Given the description of an element on the screen output the (x, y) to click on. 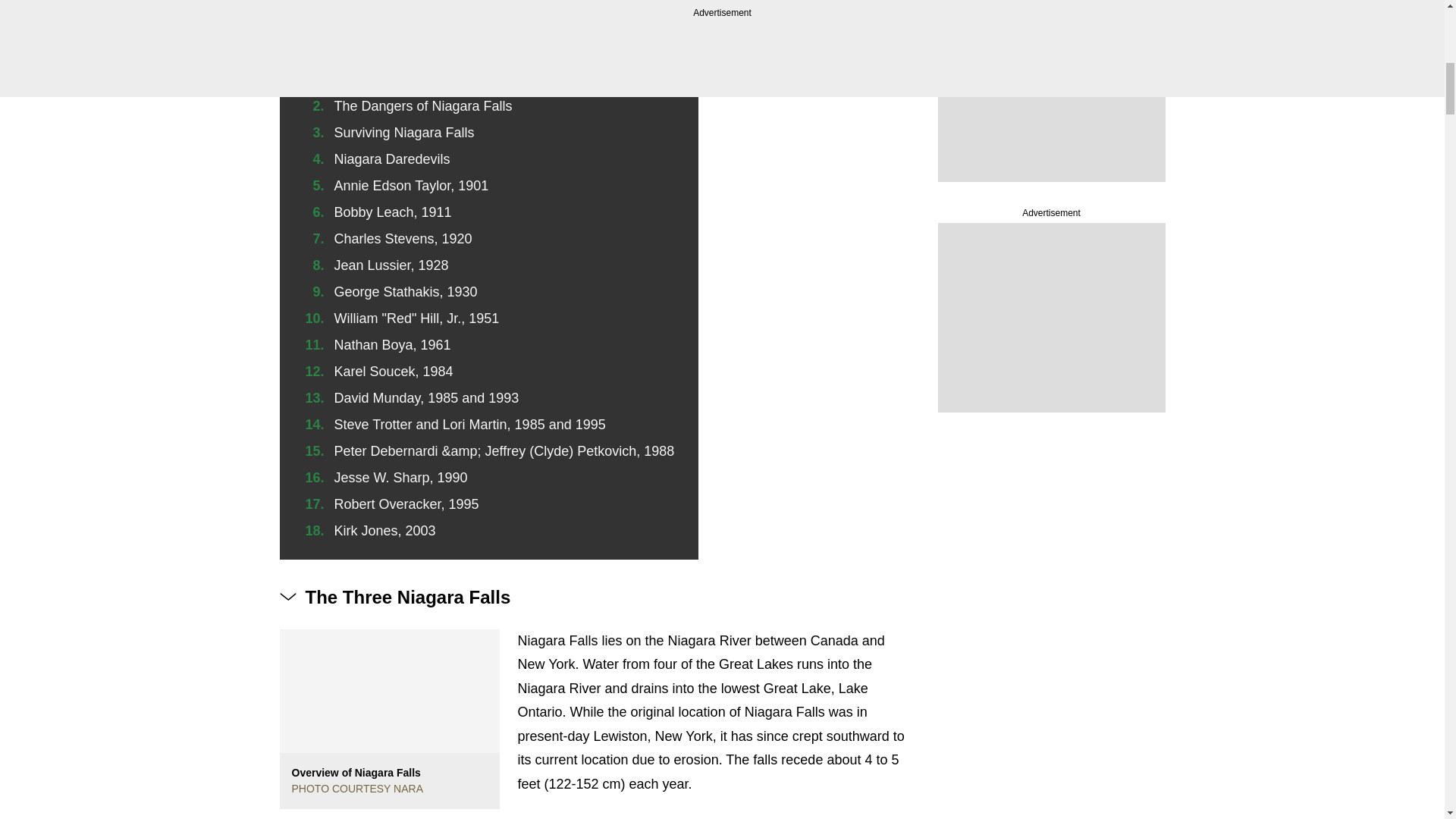
Jean Lussier, 1928 (390, 264)
Surviving Niagara Falls (403, 132)
Karel Soucek, 1984 (392, 371)
George Stathakis, 1930 (405, 291)
Charles Stevens, 1920 (402, 238)
The Dangers of Niagara Falls (422, 105)
Jesse W. Sharp, 1990 (400, 477)
Kirk Jones, 2003 (384, 530)
David Munday, 1985 and 1993 (425, 397)
The Three Niagara Falls (406, 79)
